Given the description of an element on the screen output the (x, y) to click on. 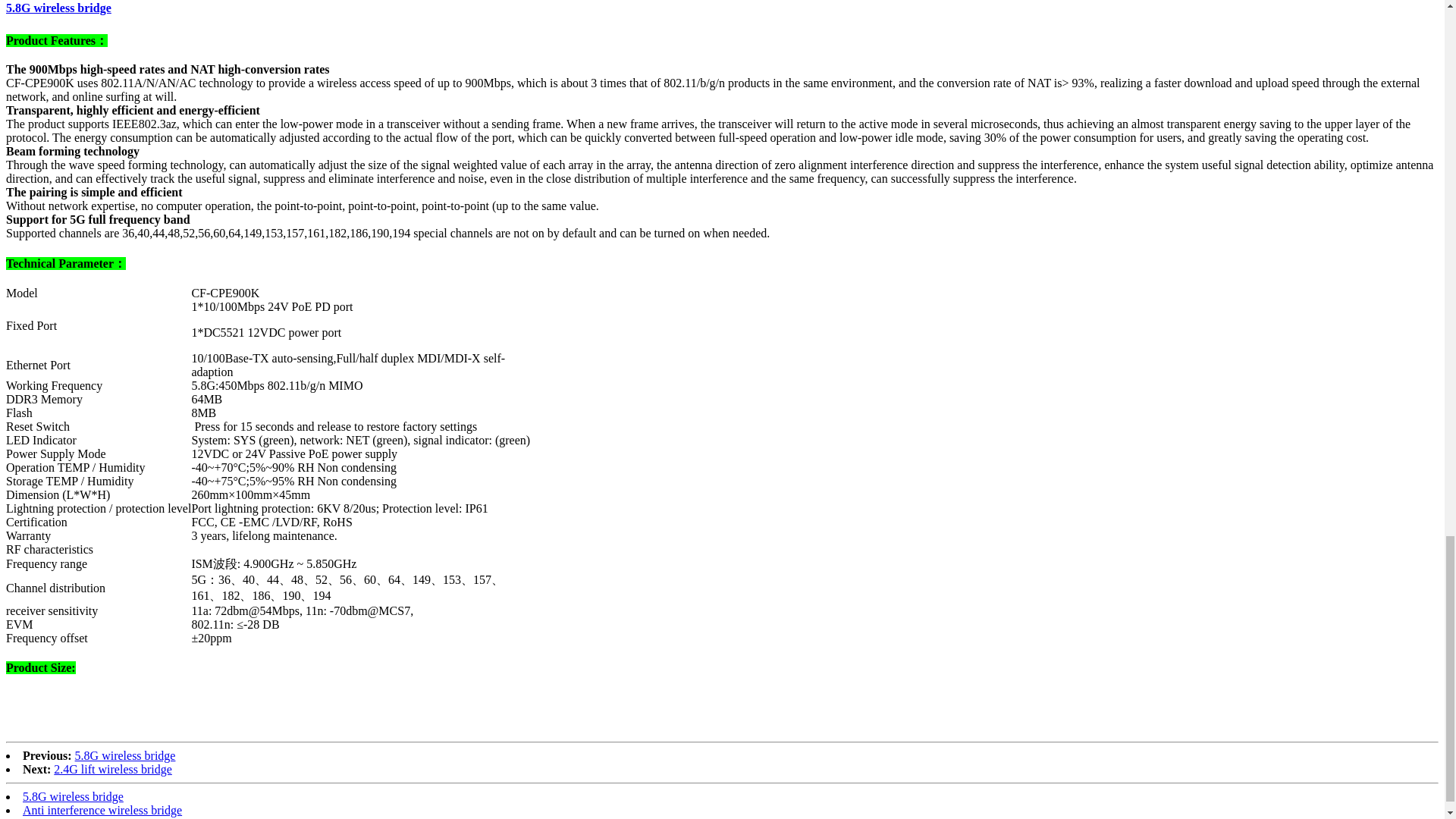
View all posts in 5.8G wireless bridge (58, 7)
